Given the description of an element on the screen output the (x, y) to click on. 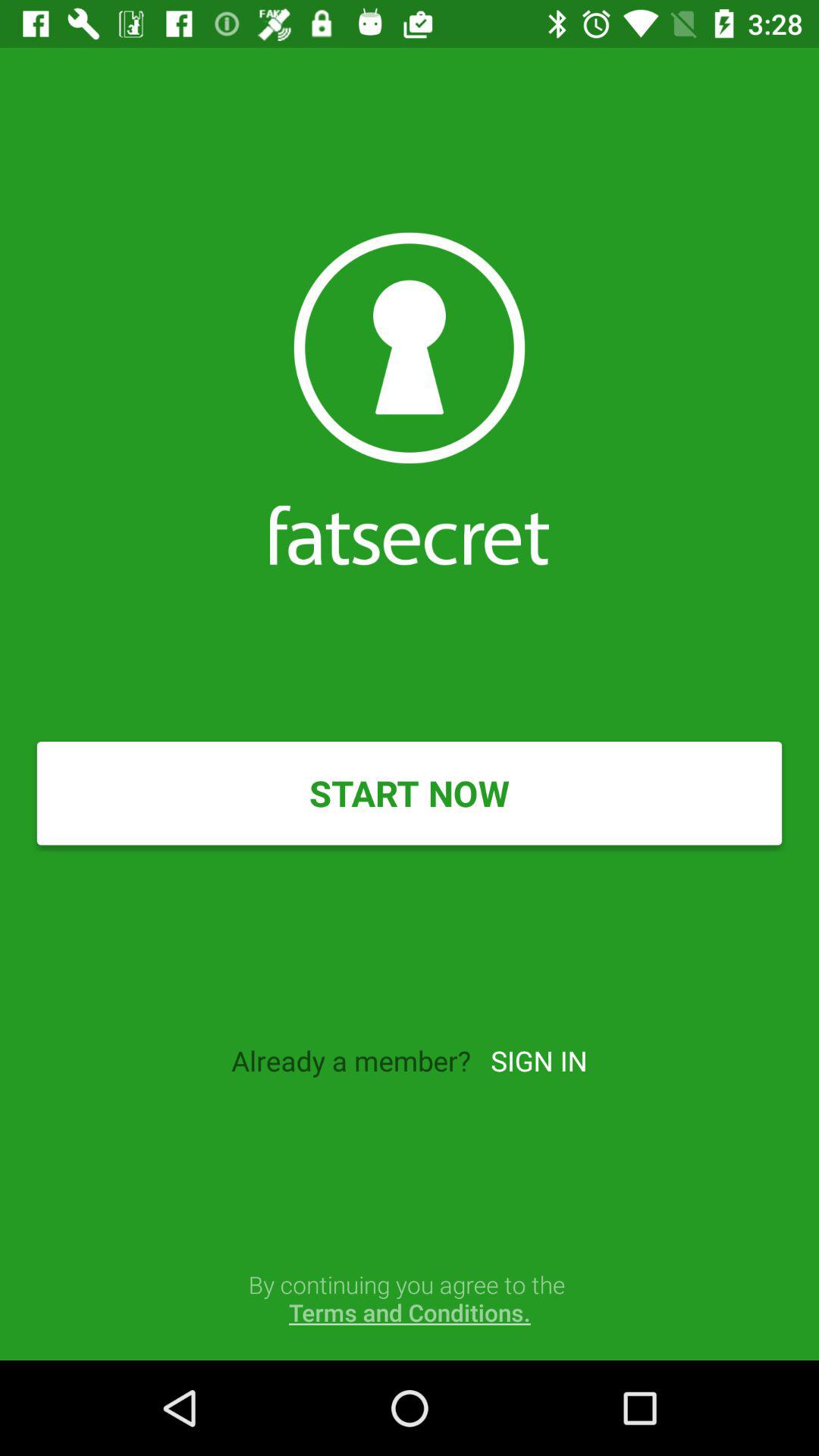
jump until the sign in icon (538, 1060)
